Given the description of an element on the screen output the (x, y) to click on. 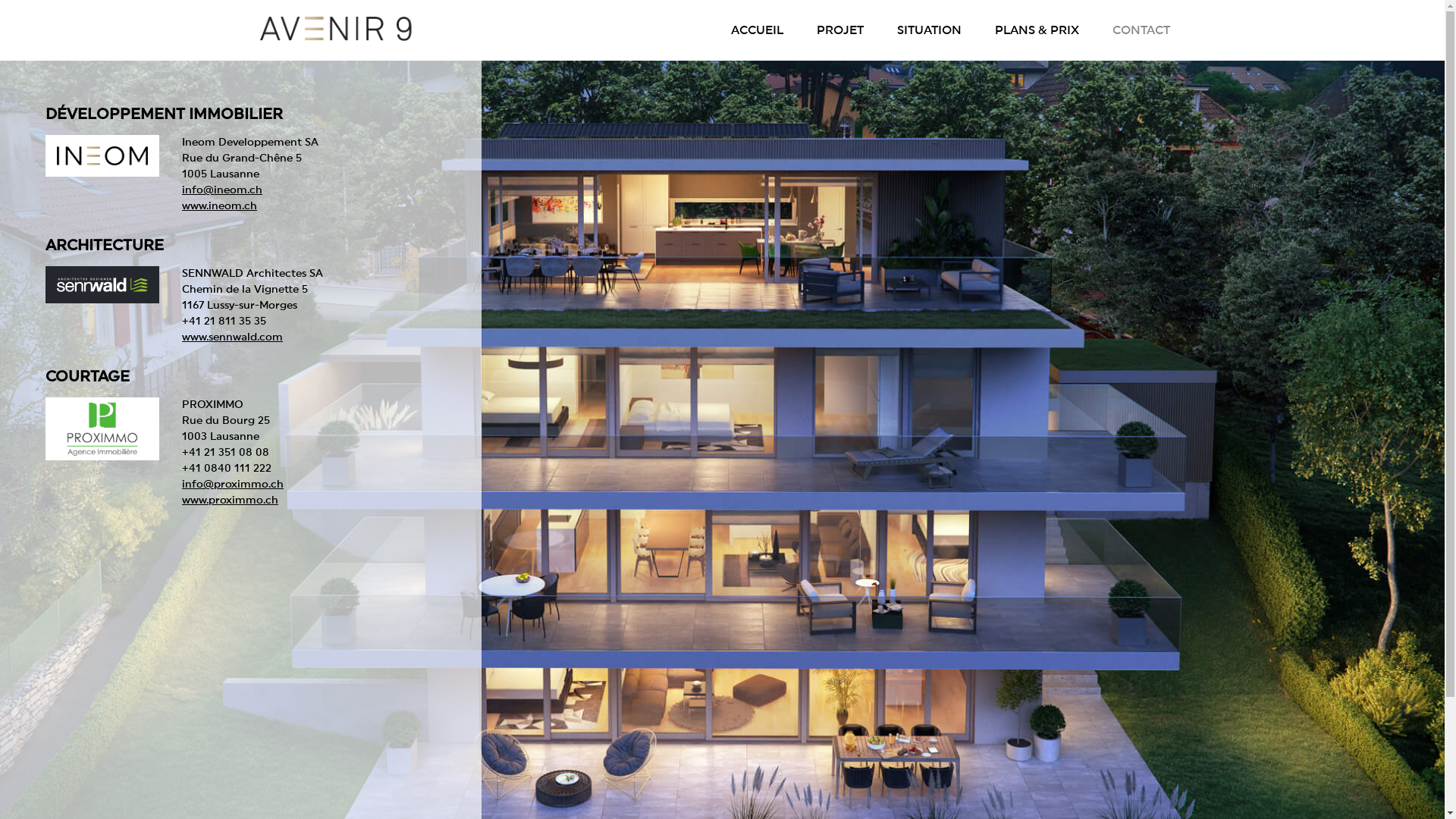
www.proximmo.ch Element type: text (230, 500)
PLANS & PRIX Element type: text (1036, 30)
www.ineom.ch Element type: text (219, 205)
ACCUEIL Element type: text (756, 30)
PROJET Element type: text (839, 30)
Avenir 9 Element type: hover (335, 28)
www.sennwald.com Element type: text (232, 337)
SITUATION Element type: text (928, 30)
info@proximmo.ch Element type: text (232, 484)
info@ineom.ch Element type: text (222, 190)
CONTACT Element type: text (1140, 30)
